Given the description of an element on the screen output the (x, y) to click on. 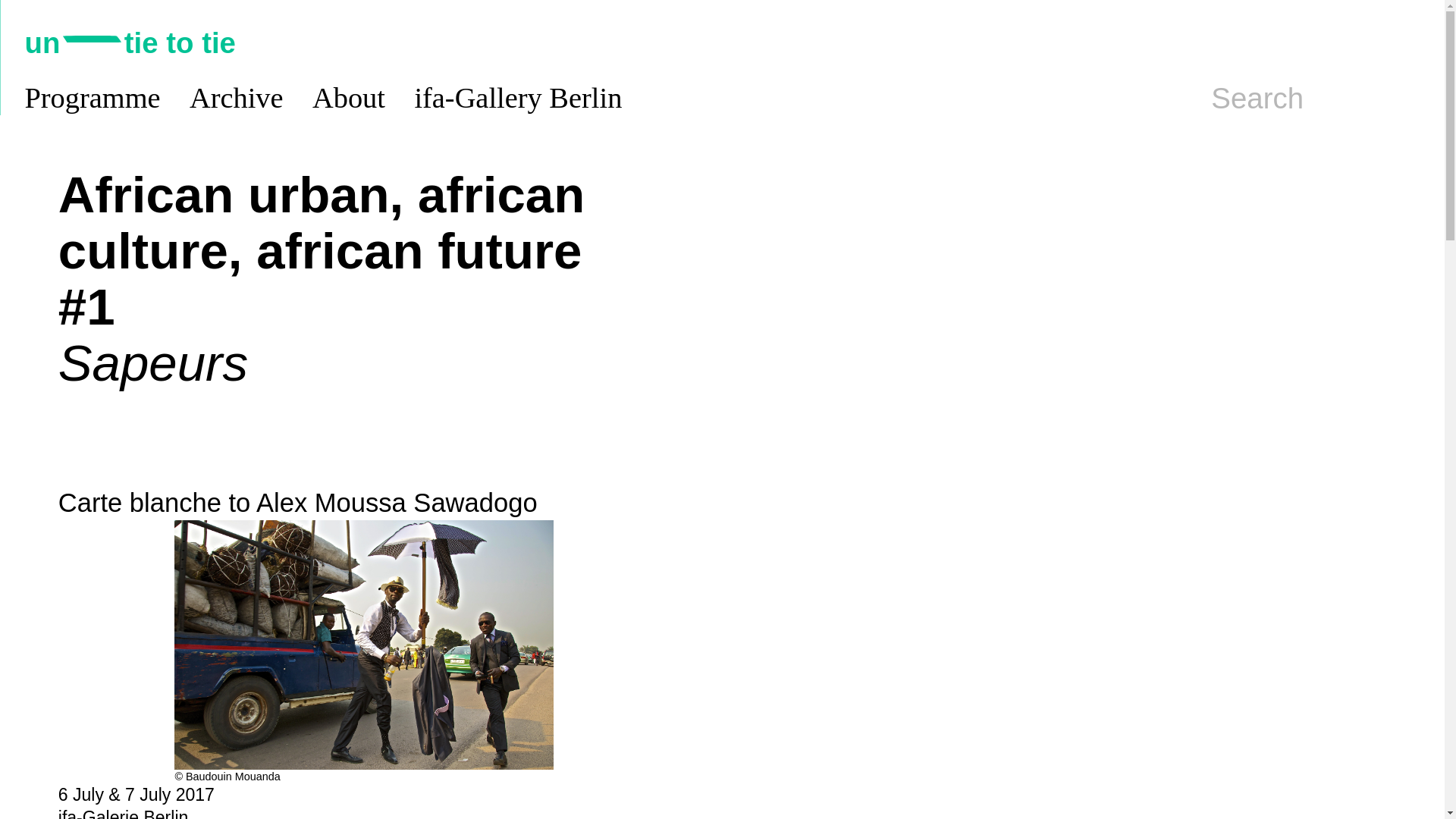
Youtube (1369, 42)
Search (1257, 98)
Instagram (1332, 42)
Soundcloud (1296, 42)
Programme (92, 98)
ifa-Gallery Berlin (517, 98)
Archive (236, 98)
Facebook (1405, 42)
About (349, 98)
